Given the description of an element on the screen output the (x, y) to click on. 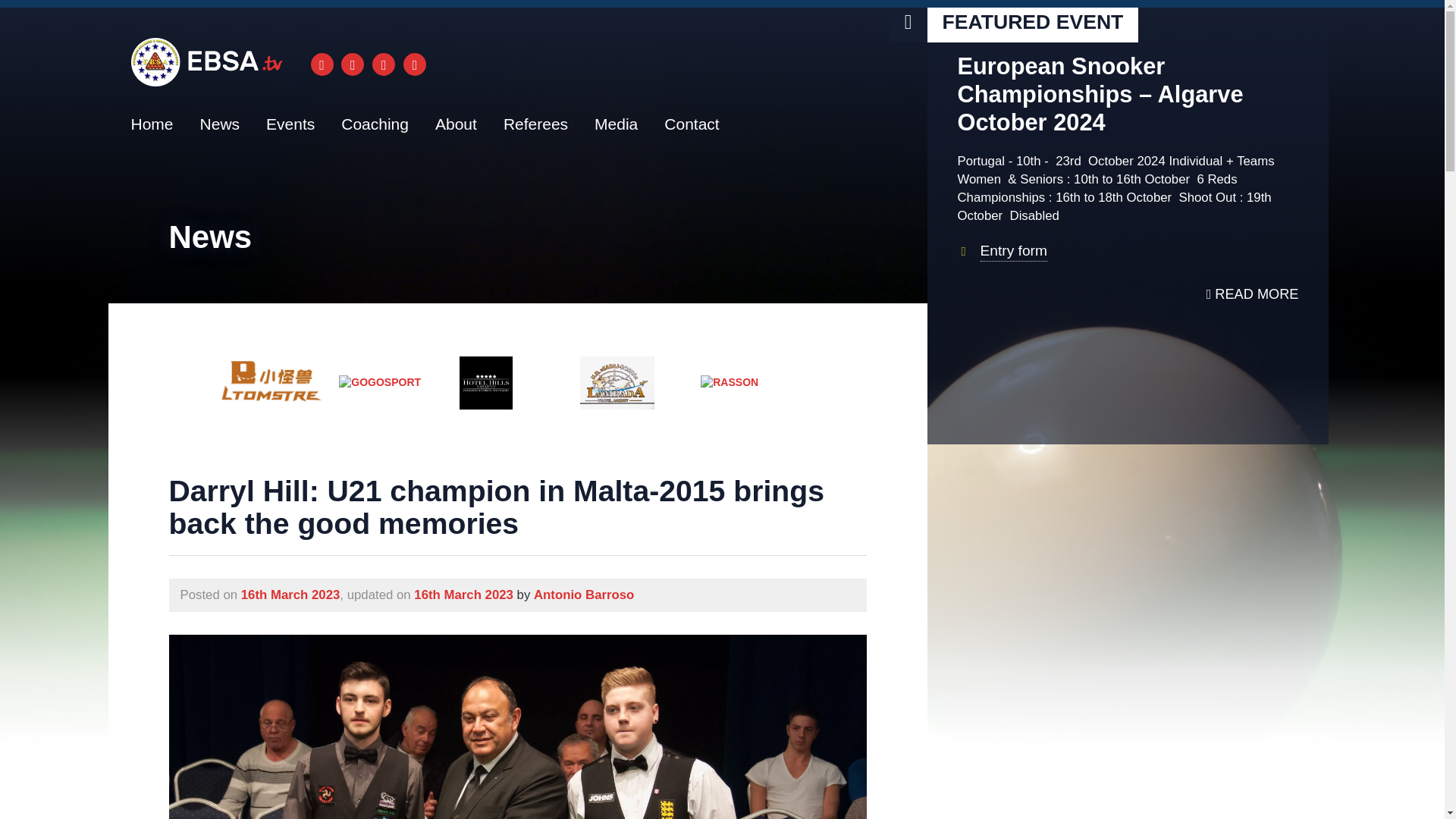
View all posts by Antonio Barroso (583, 594)
11:36 am (290, 594)
11:36 am (463, 594)
